Given the description of an element on the screen output the (x, y) to click on. 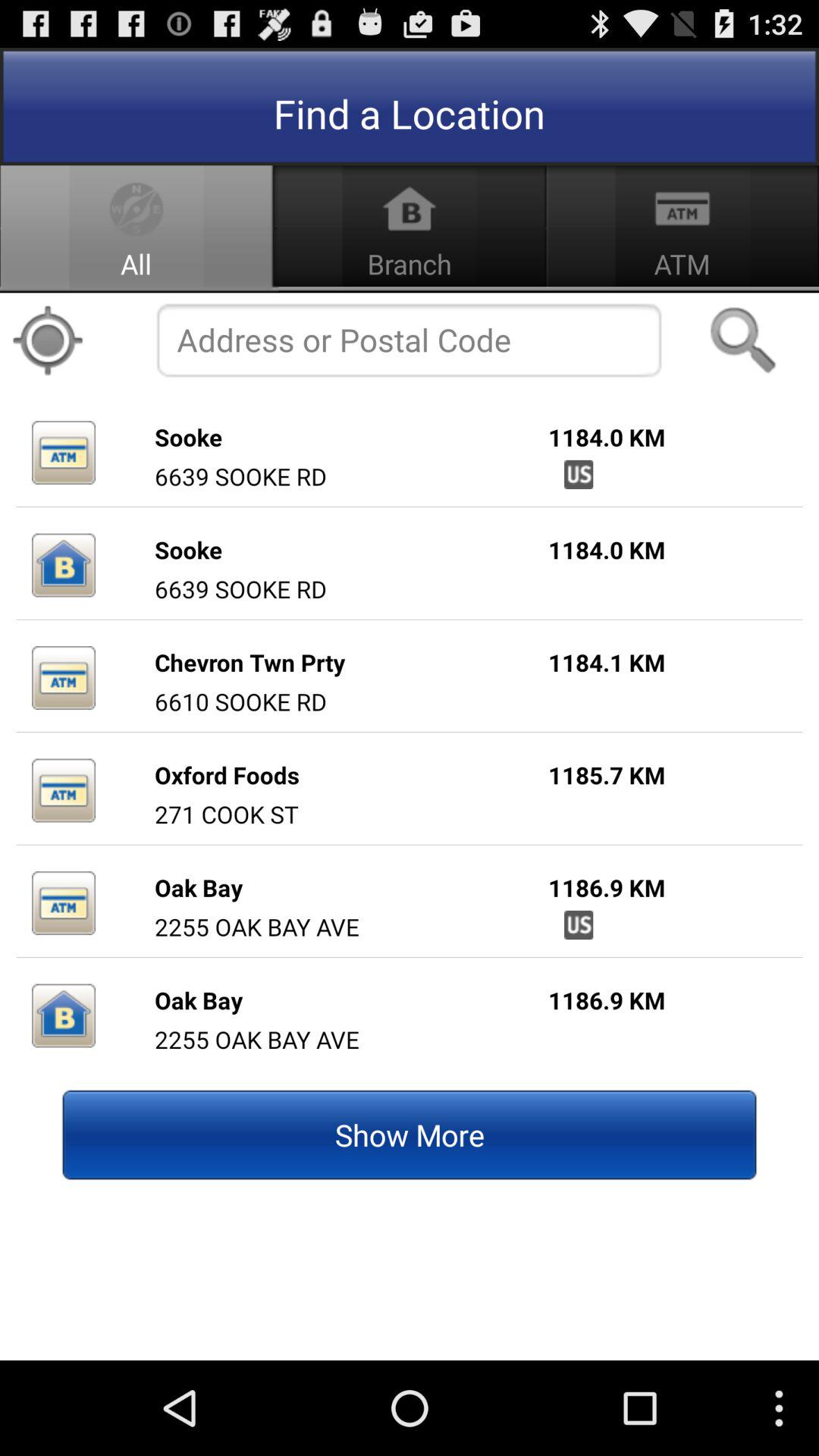
click on blue button at bottom (409, 1134)
